Given the description of an element on the screen output the (x, y) to click on. 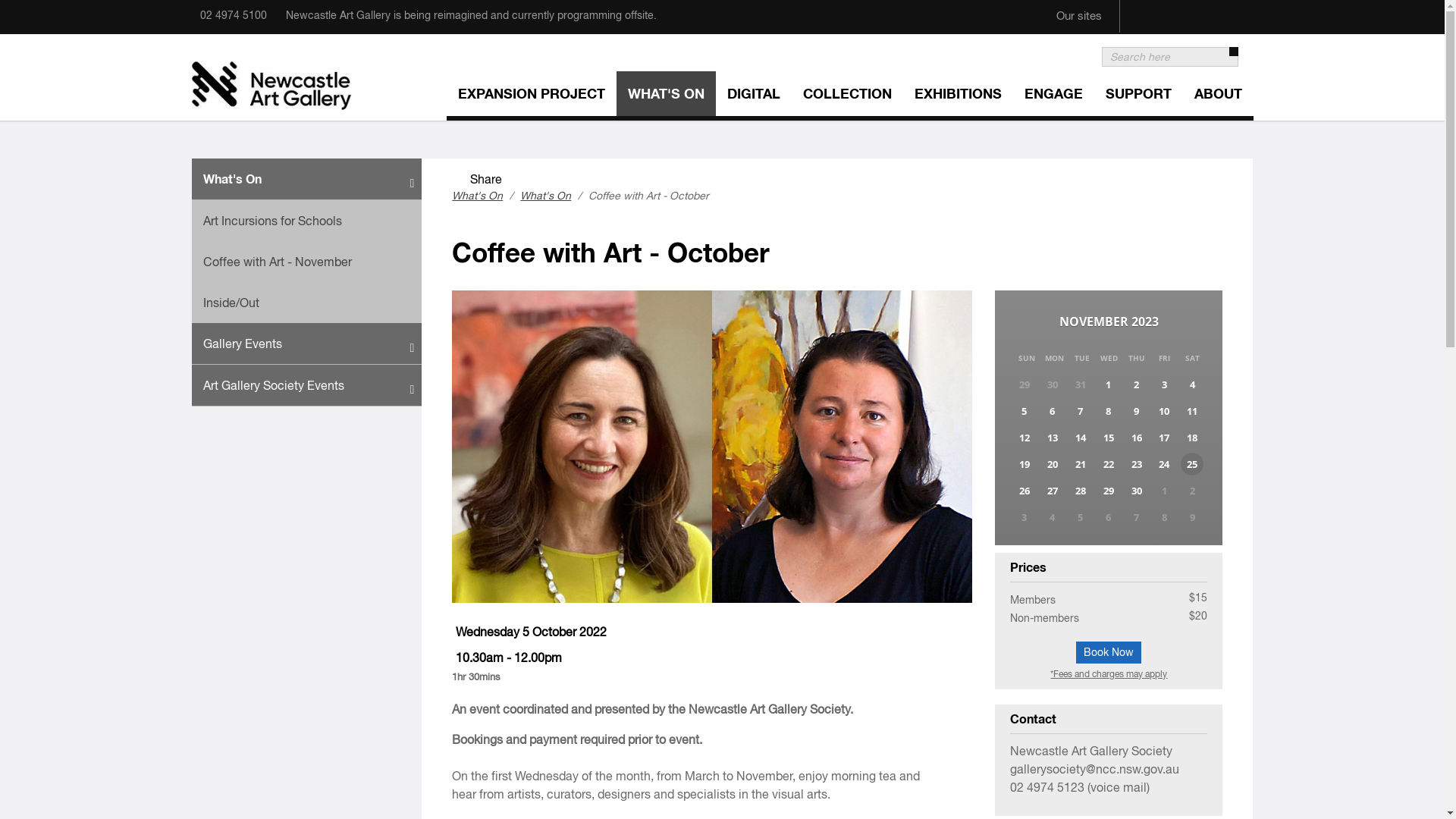
gallerysociety@ncc.nsw.gov.au Element type: text (1094, 768)
Art Incursions for Schools Element type: text (306, 220)
EXHIBITIONS Element type: text (957, 95)
ENGAGE Element type: text (1053, 95)
Gallery Events Element type: text (306, 343)
DIGITAL Element type: text (753, 95)
Contrast Element type: text (1236, 6)
Search Element type: text (1226, 56)
EXPANSION PROJECT Element type: text (530, 95)
What's On Element type: text (545, 195)
Instagram Element type: text (1173, 6)
What's On Element type: text (306, 179)
Inside/Out Element type: text (306, 302)
Facebook Element type: text (1141, 6)
SUPPORT Element type: text (1137, 95)
Book Now Element type: text (1108, 652)
*Fees and charges may apply Element type: text (1108, 673)
ABOUT Element type: text (1218, 95)
Newcastle Art Gallery enews Element type: text (1204, 6)
WHAT'S ON Element type: text (665, 95)
  Share Element type: text (476, 178)
02 4974 5100 Element type: text (233, 15)
Art Gallery Society Events Element type: text (306, 385)
Coffee with Art - November Element type: text (306, 261)
What's On Element type: text (476, 195)
COLLECTION Element type: text (847, 95)
